Given the description of an element on the screen output the (x, y) to click on. 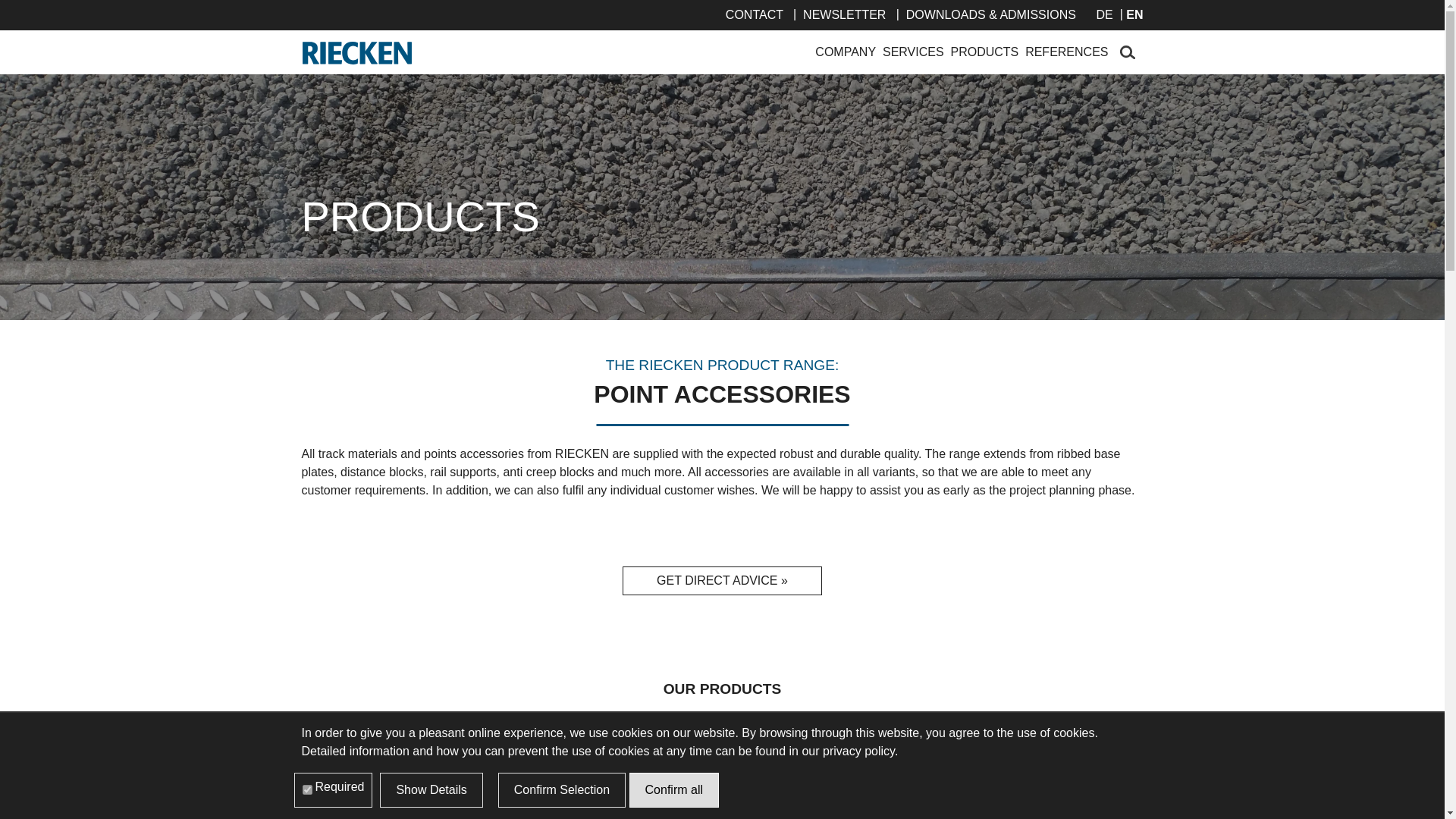
DE (1104, 14)
CONTACT (754, 14)
1 (306, 790)
Contact (754, 14)
COMPANY (845, 51)
References (1066, 51)
Family managed, flexible, fast (845, 51)
Newsletter (844, 14)
Search (1126, 52)
NEWSLETTER (844, 14)
REFERENCES (1066, 51)
